Given the description of an element on the screen output the (x, y) to click on. 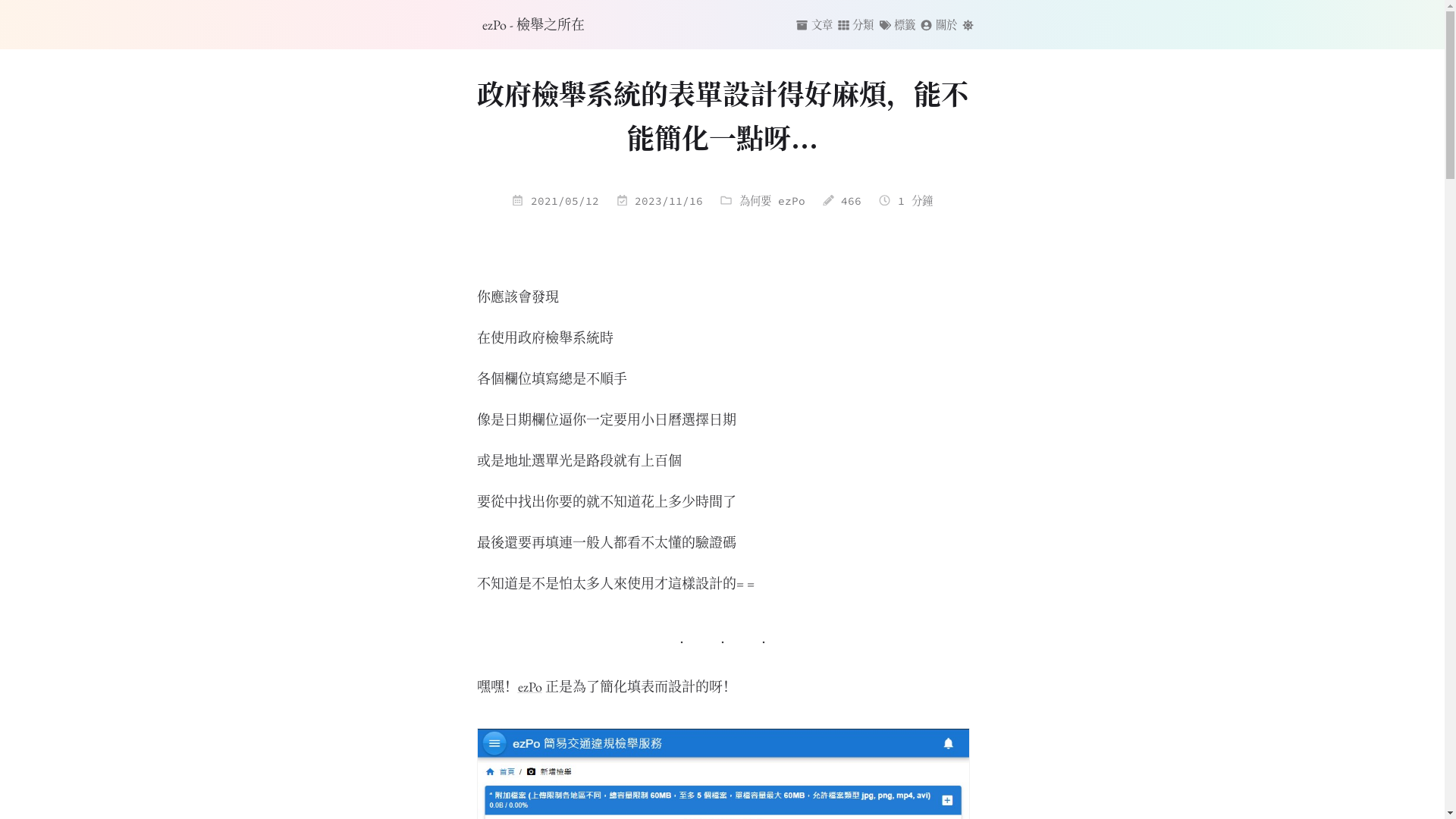
ezPo Element type: text (529, 686)
